Given the description of an element on the screen output the (x, y) to click on. 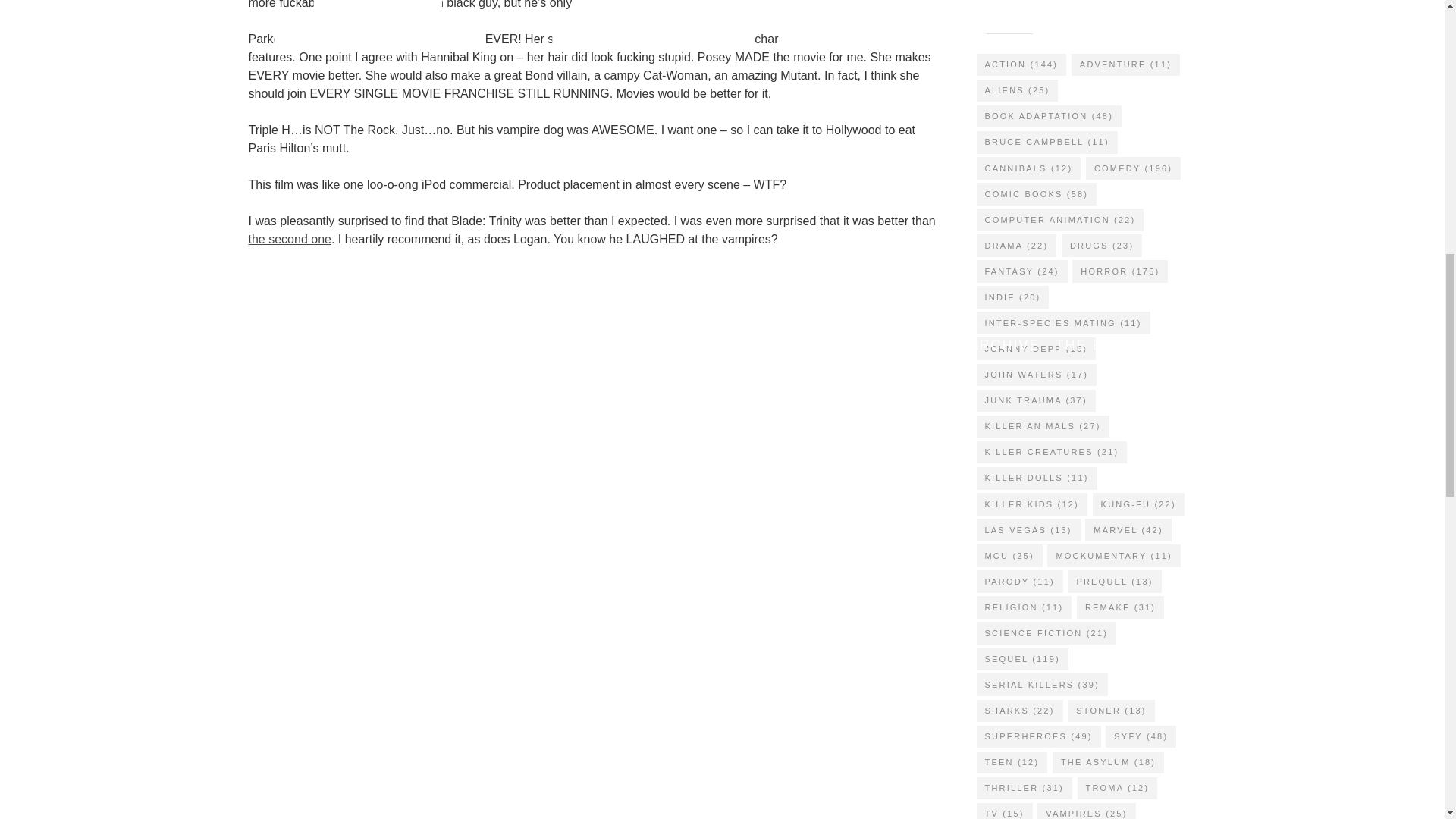
REVIEW ARCHIVE (970, 345)
DAILY PROPAGANDA ARCHIVE (767, 345)
HOME (361, 345)
THE BOB SYSTEM (1124, 345)
the second one (289, 238)
MOVIE WATCHING CALENDAR (516, 345)
